Given the description of an element on the screen output the (x, y) to click on. 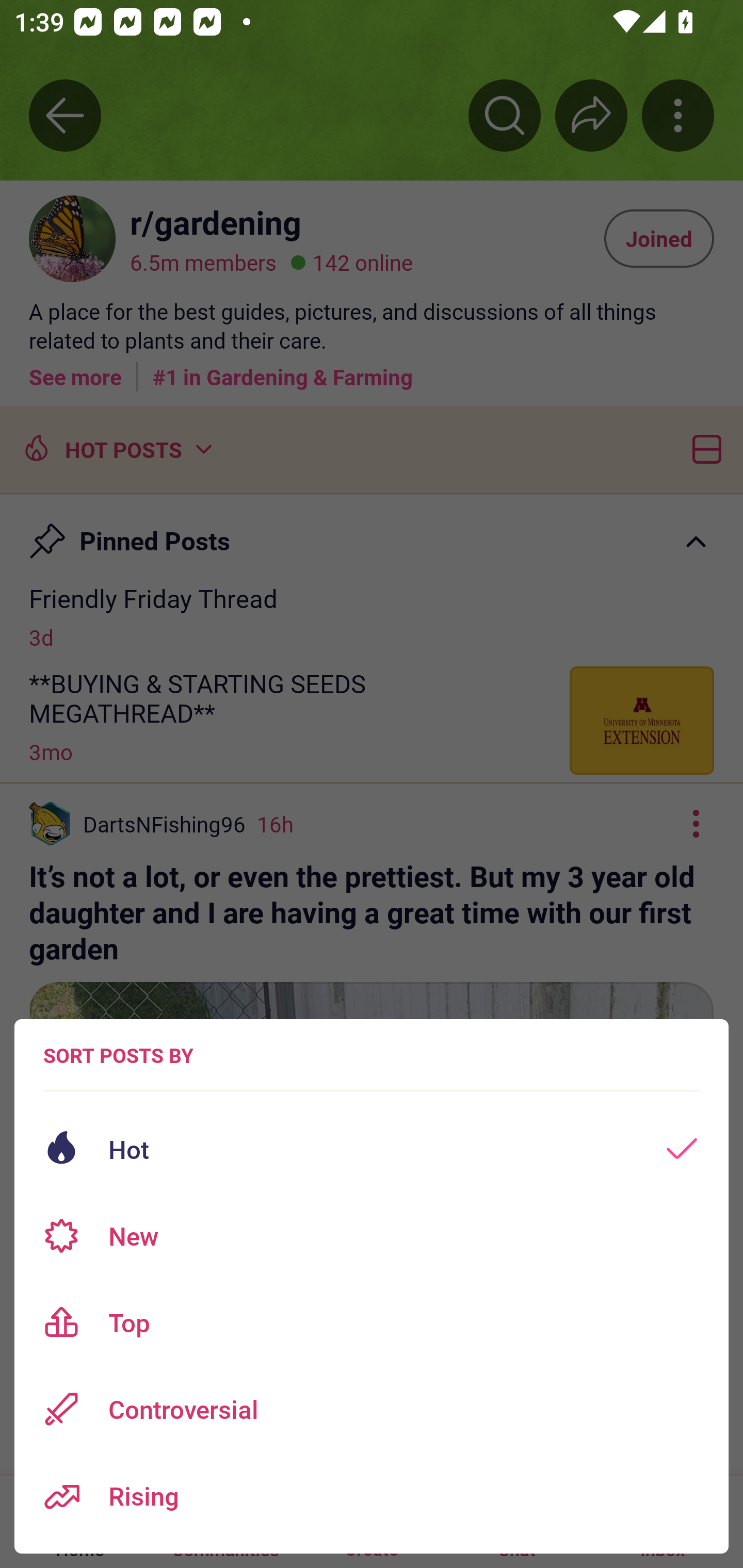
SORT POSTS BY Sort posts options (118, 1055)
Hot (371, 1149)
New (371, 1236)
Top (371, 1322)
Controversial (371, 1408)
Rising (371, 1495)
